Given the description of an element on the screen output the (x, y) to click on. 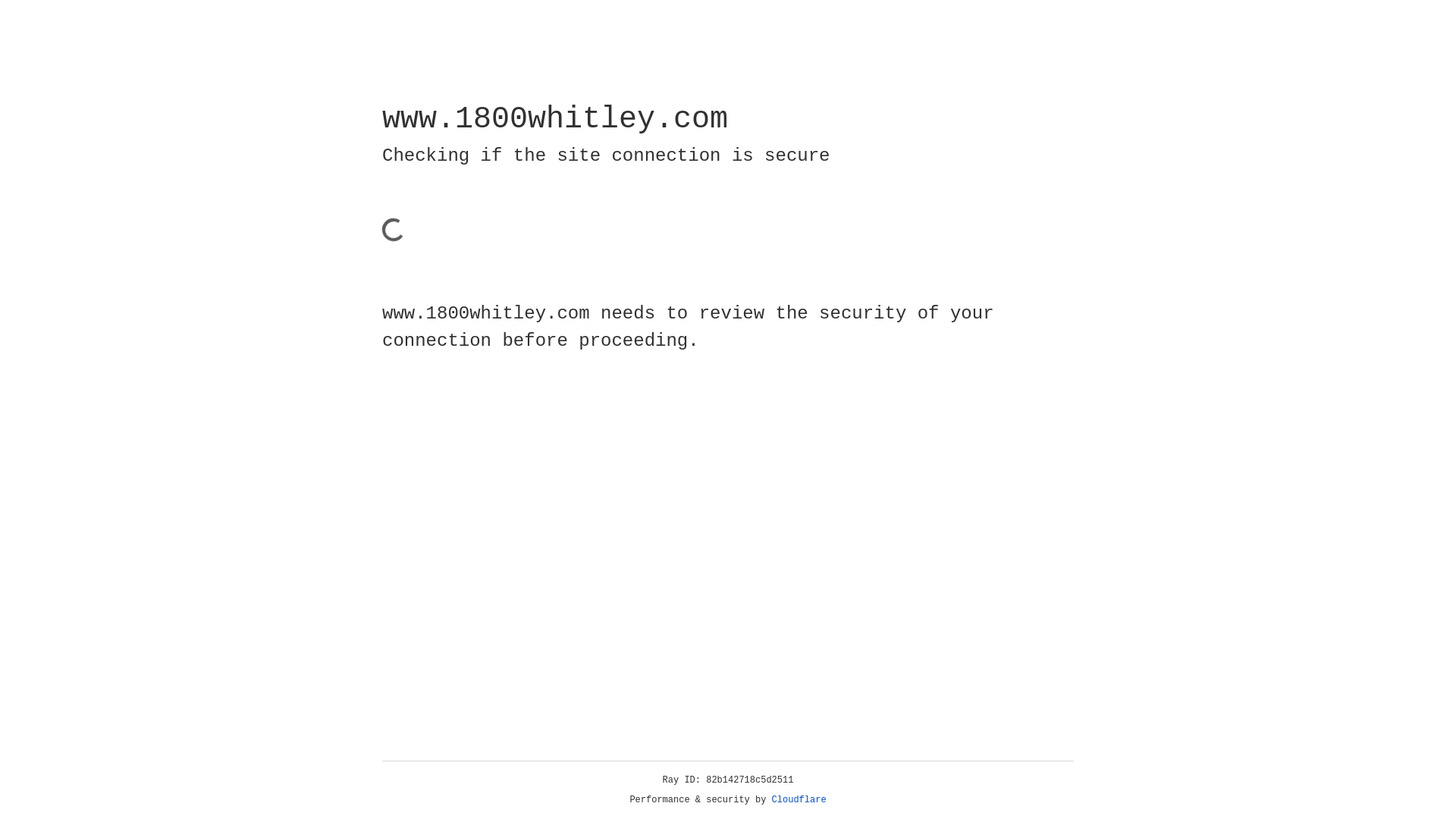
Cloudflare Element type: text (798, 799)
